Given the description of an element on the screen output the (x, y) to click on. 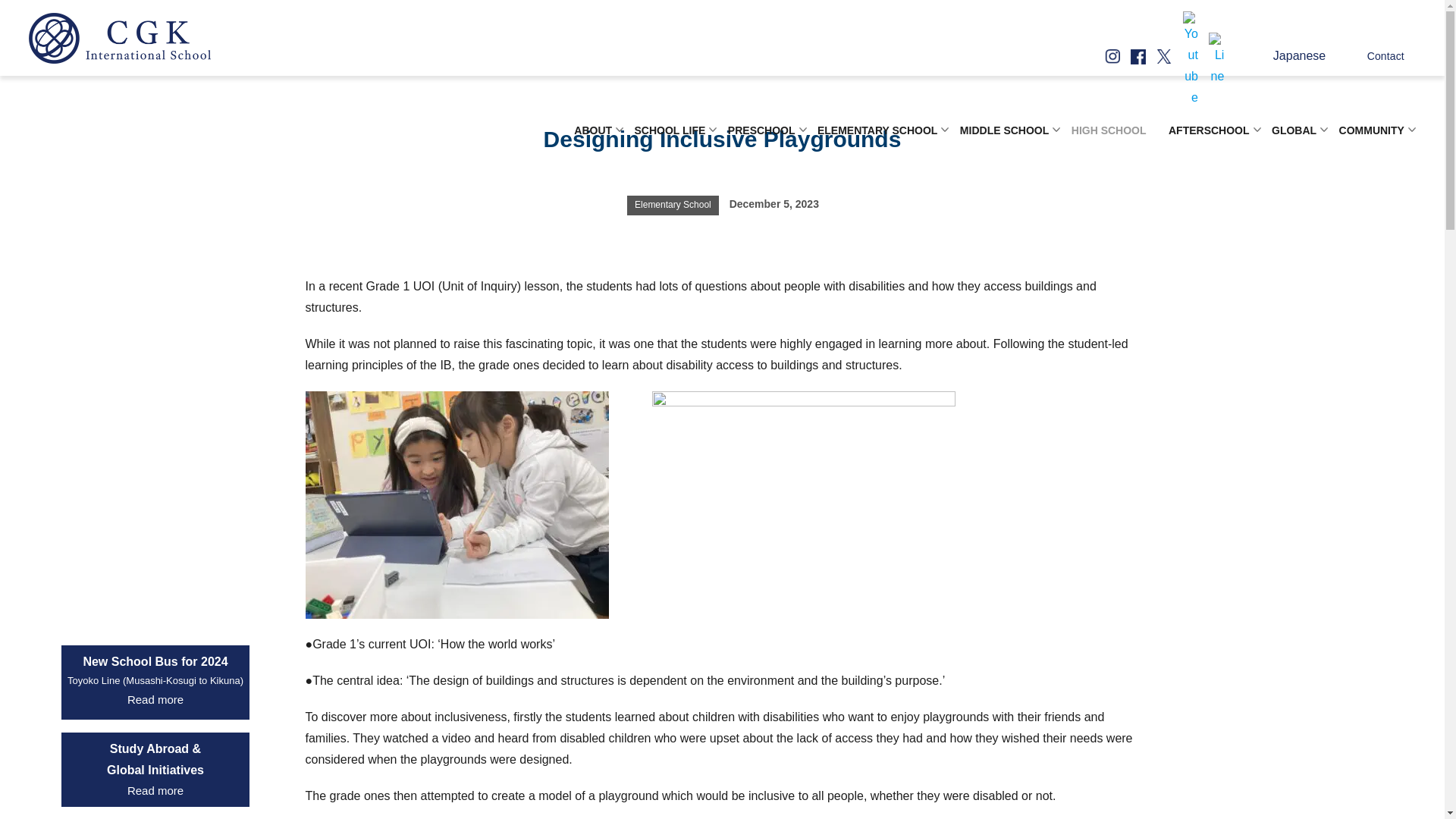
Japanese (1288, 55)
ABOUT (592, 130)
PRESCHOOL (761, 130)
Contact (1383, 56)
SCHOOL LIFE (670, 130)
